Given the description of an element on the screen output the (x, y) to click on. 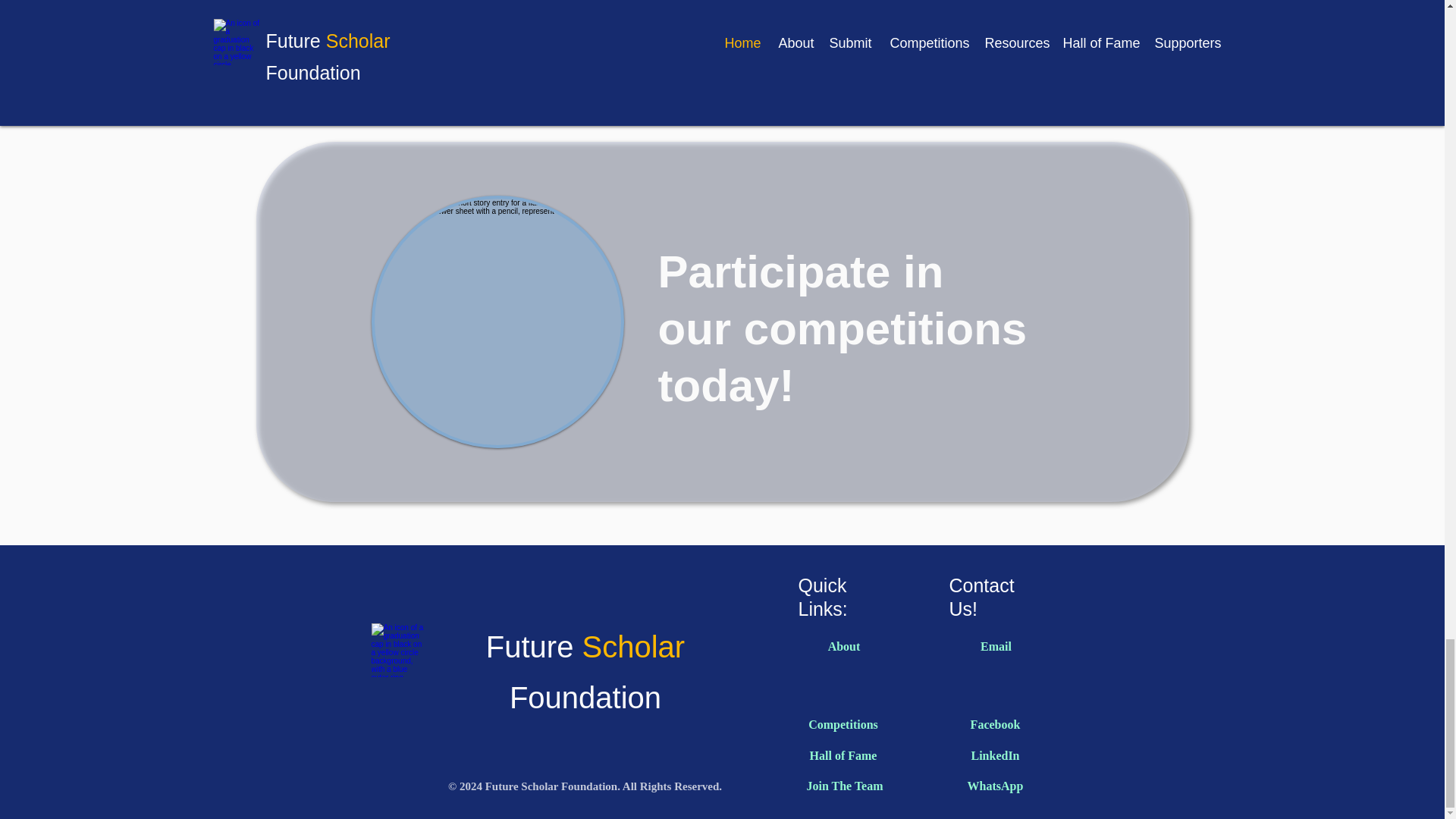
Future Scholar Foundation (585, 671)
Competitions (842, 724)
Facebook (995, 724)
Email (995, 645)
LinkedIn (995, 755)
About (844, 645)
Hall of Fame (843, 755)
